Given the description of an element on the screen output the (x, y) to click on. 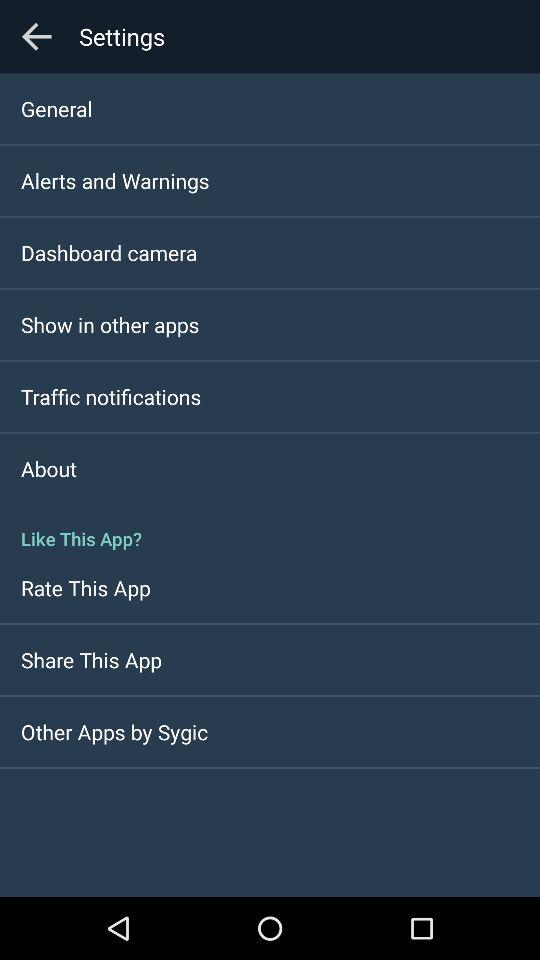
click the icon below general icon (115, 180)
